Given the description of an element on the screen output the (x, y) to click on. 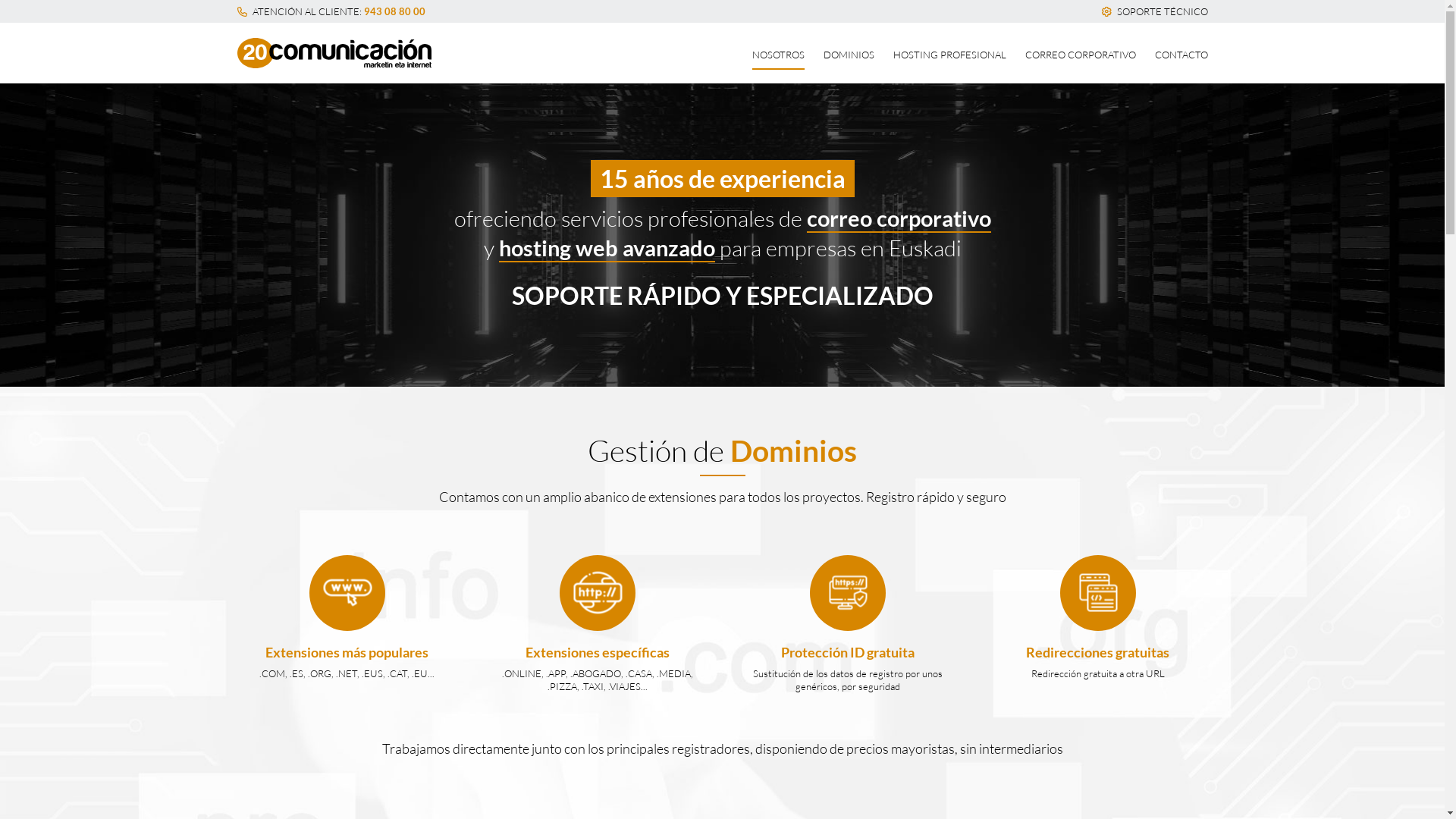
HOSTING PROFESIONAL Element type: text (949, 54)
CORREO CORPORATIVO Element type: text (1080, 54)
DOMINIOS Element type: text (848, 54)
NOSOTROS Element type: text (778, 55)
943 08 80 00 Element type: text (394, 11)
CONTACTO Element type: text (1180, 54)
